Given the description of an element on the screen output the (x, y) to click on. 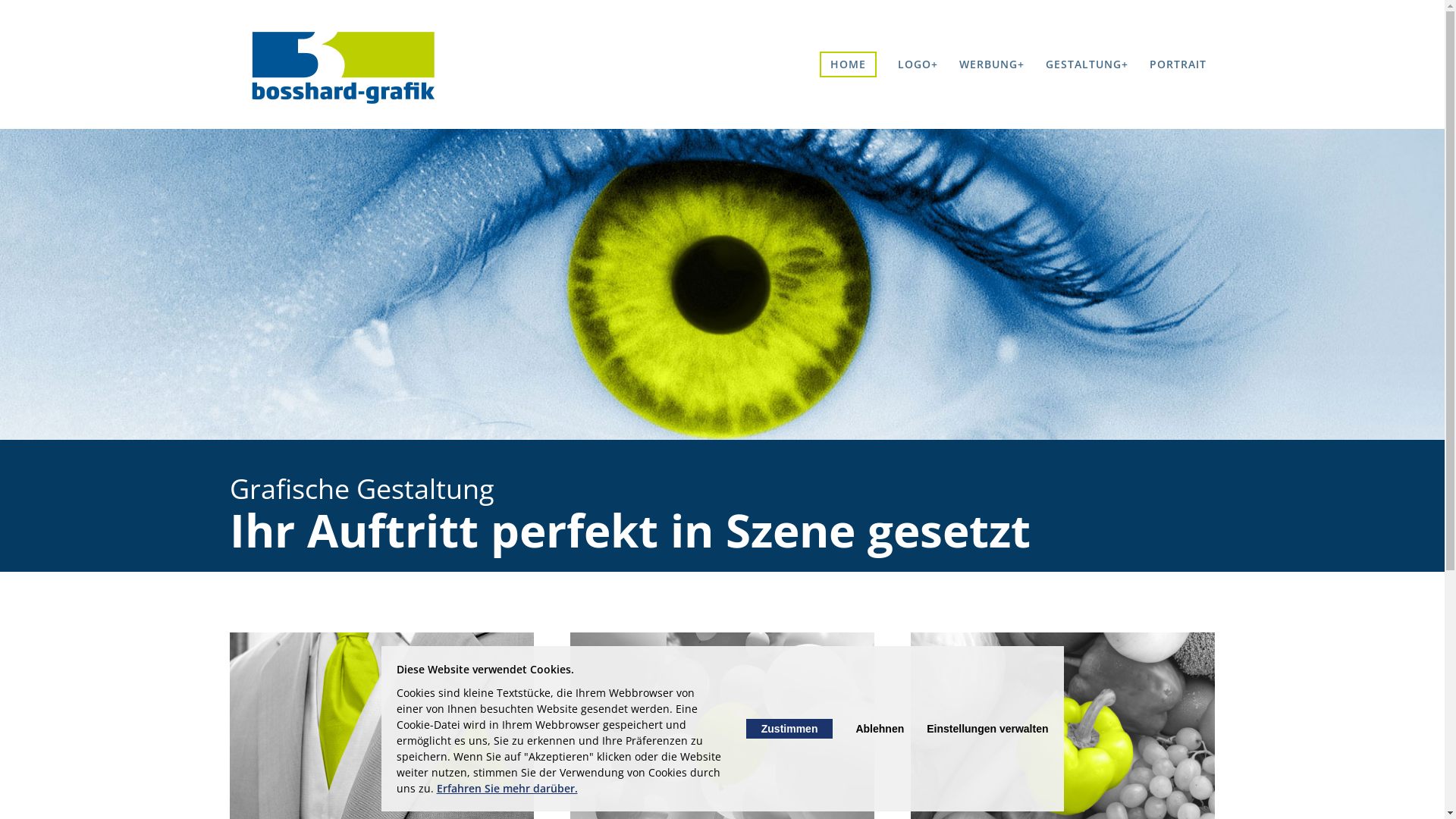
PORTRAIT Element type: text (1177, 64)
WERBUNG+ Element type: text (990, 64)
LOGO+ Element type: text (917, 64)
Zustimmen Element type: text (789, 728)
Ablehnen Element type: text (879, 728)
HOME Element type: text (847, 64)
Einstellungen verwalten Element type: text (987, 728)
GESTALTUNG+ Element type: text (1085, 64)
